Given the description of an element on the screen output the (x, y) to click on. 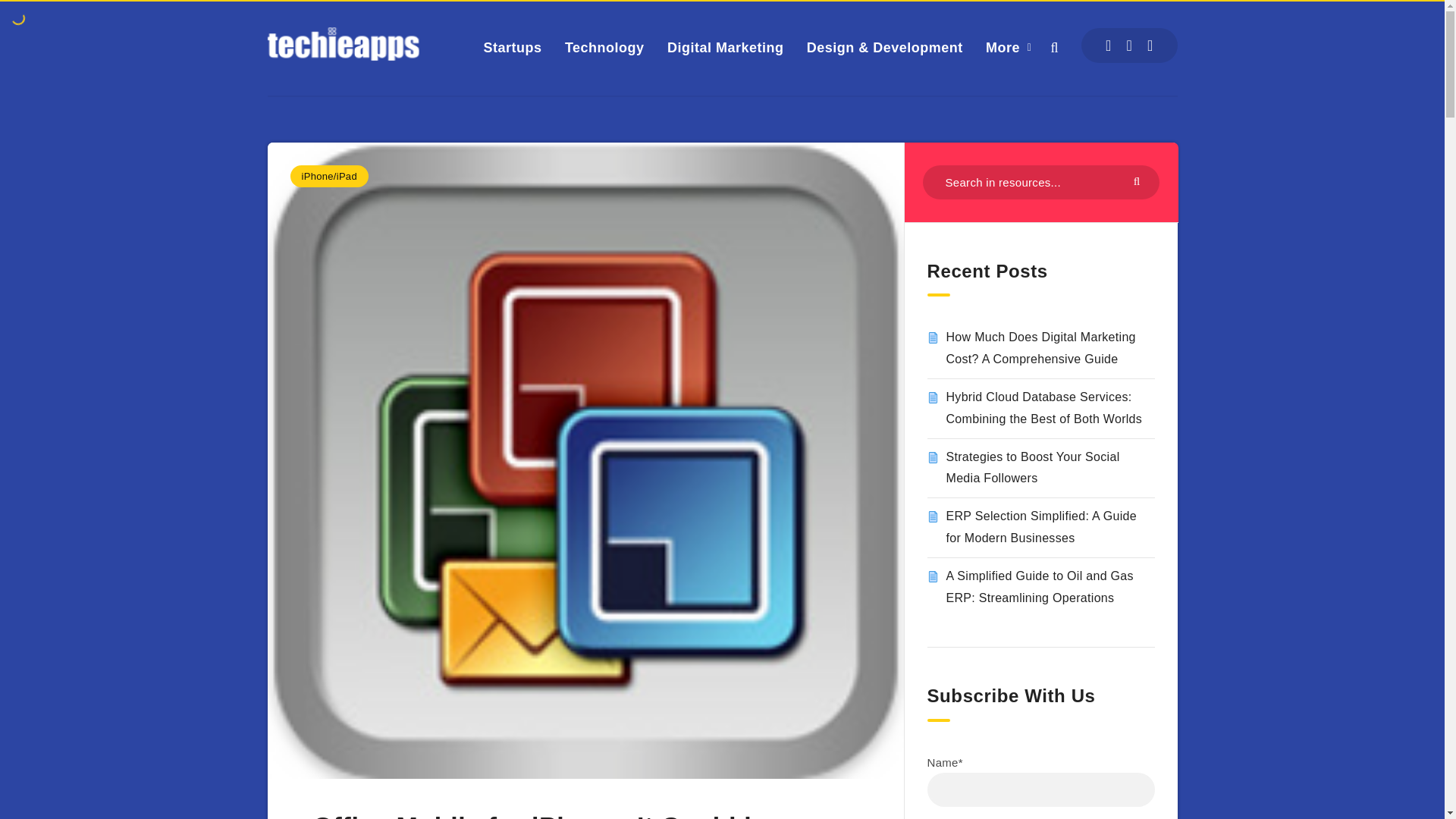
Digital Marketing (725, 47)
Technology (604, 47)
More (1002, 47)
Startups (512, 47)
